Given the description of an element on the screen output the (x, y) to click on. 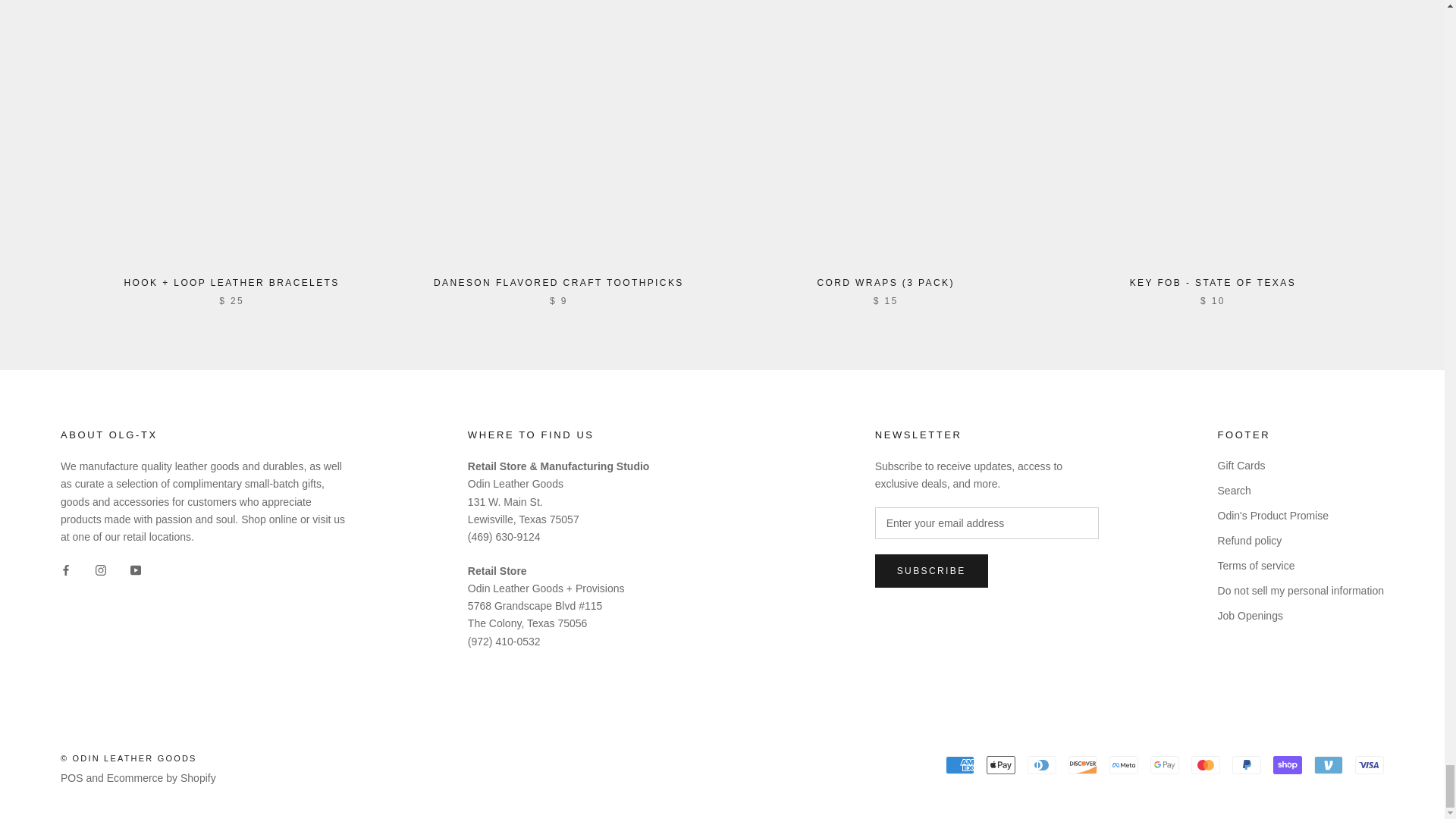
Apple Pay (1000, 764)
Meta Pay (1123, 764)
Google Pay (1164, 764)
American Express (959, 764)
Diners Club (1042, 764)
Mastercard (1205, 764)
Discover (1082, 764)
